Given the description of an element on the screen output the (x, y) to click on. 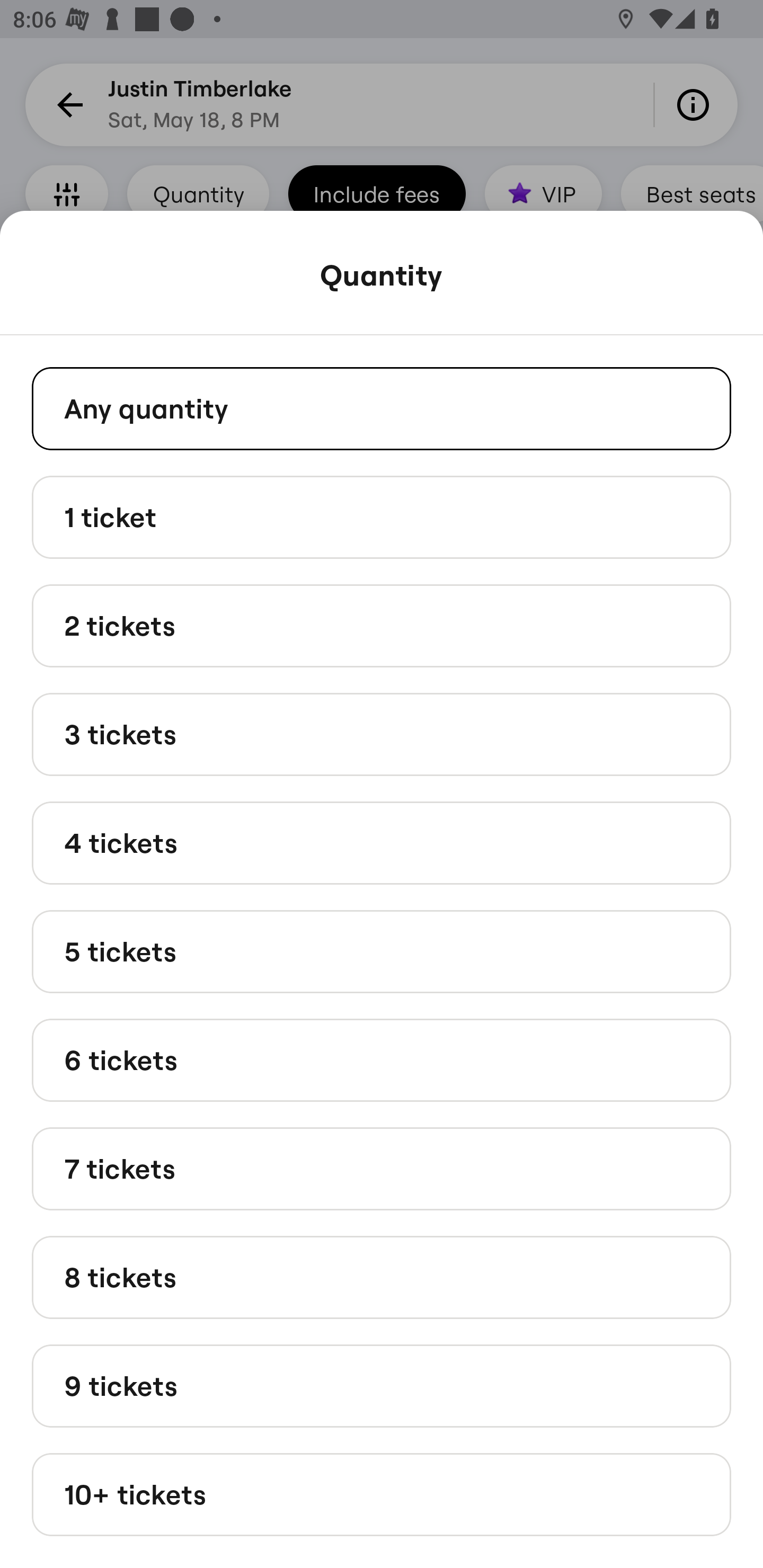
Any quantity (381, 408)
1 ticket (381, 516)
2 tickets (381, 625)
3 tickets (381, 734)
4 tickets (381, 842)
5 tickets (381, 950)
6 tickets (381, 1060)
7 tickets (381, 1168)
8 tickets (381, 1276)
9 tickets (381, 1384)
10+ tickets (381, 1494)
